Given the description of an element on the screen output the (x, y) to click on. 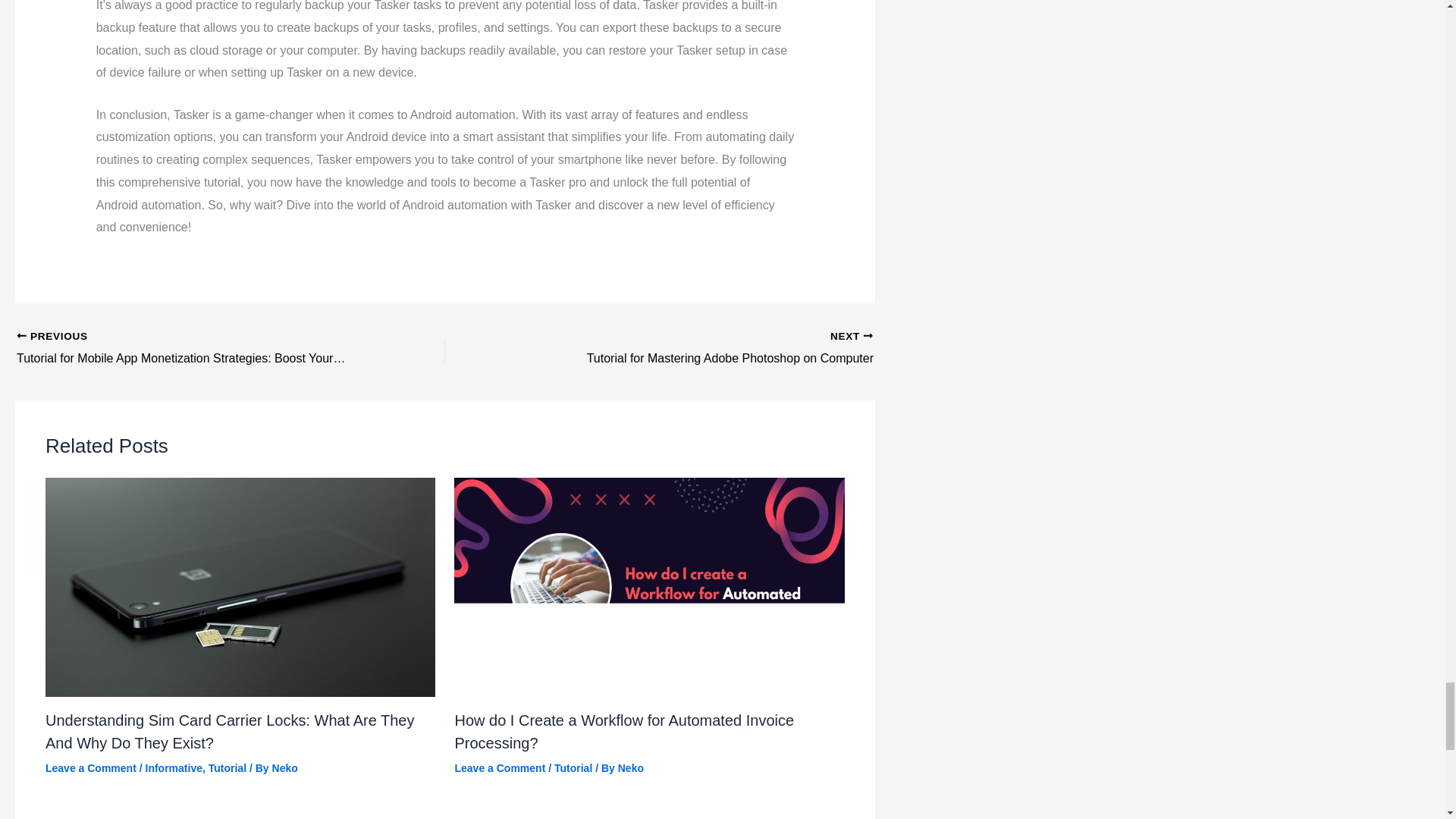
View all posts by Neko (285, 767)
Tutorial (701, 348)
How do I Create a Workflow for Automated Invoice Processing? (227, 767)
View all posts by Neko (623, 731)
Tutorial for Mastering Adobe Photoshop on Computer (630, 767)
Neko (701, 348)
Leave a Comment (285, 767)
Informative (499, 767)
Tutorial (173, 767)
Neko (573, 767)
Leave a Comment (630, 767)
